Given the description of an element on the screen output the (x, y) to click on. 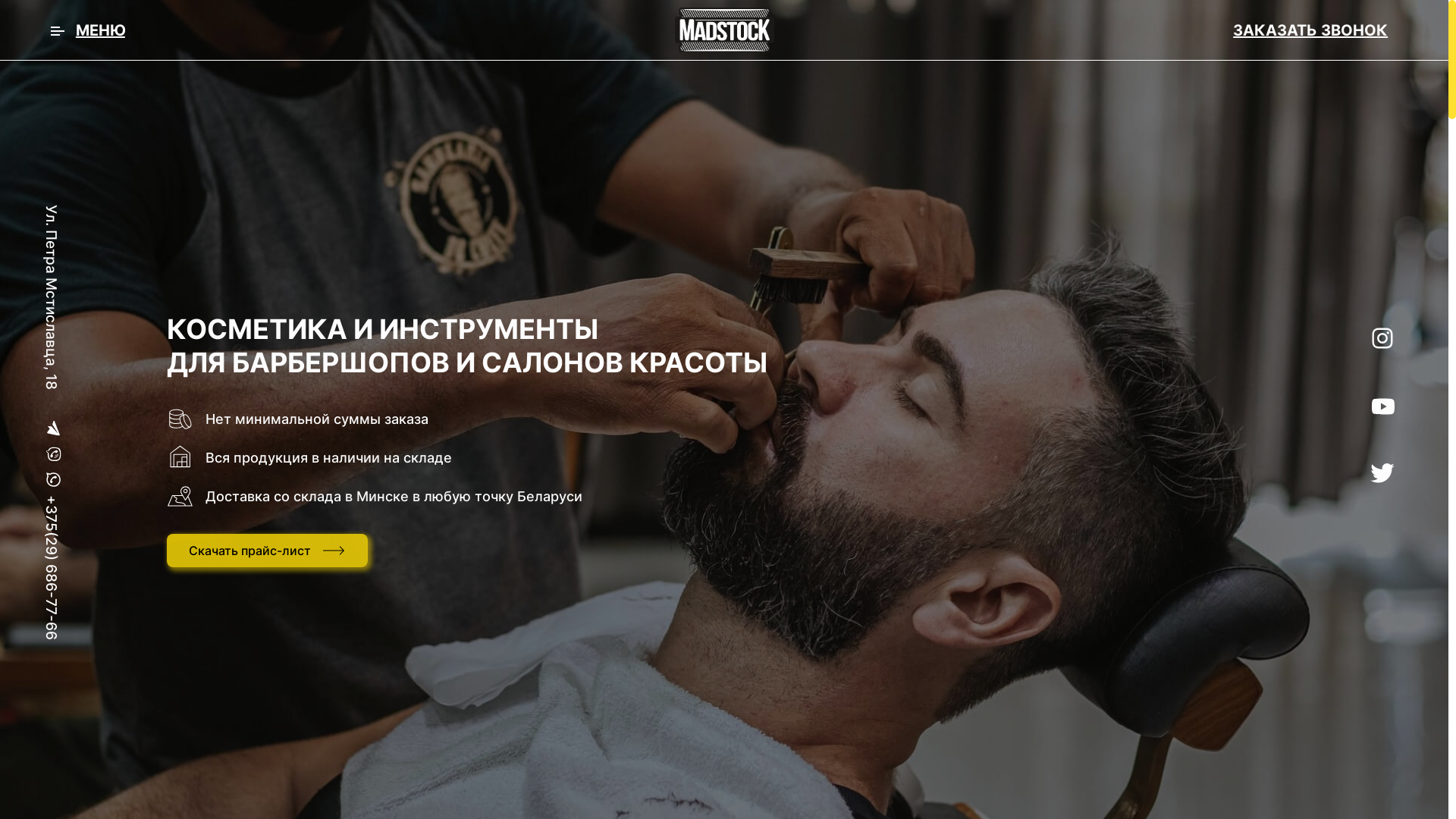
+375(29) 686-77-66 Element type: text (114, 502)
